Given the description of an element on the screen output the (x, y) to click on. 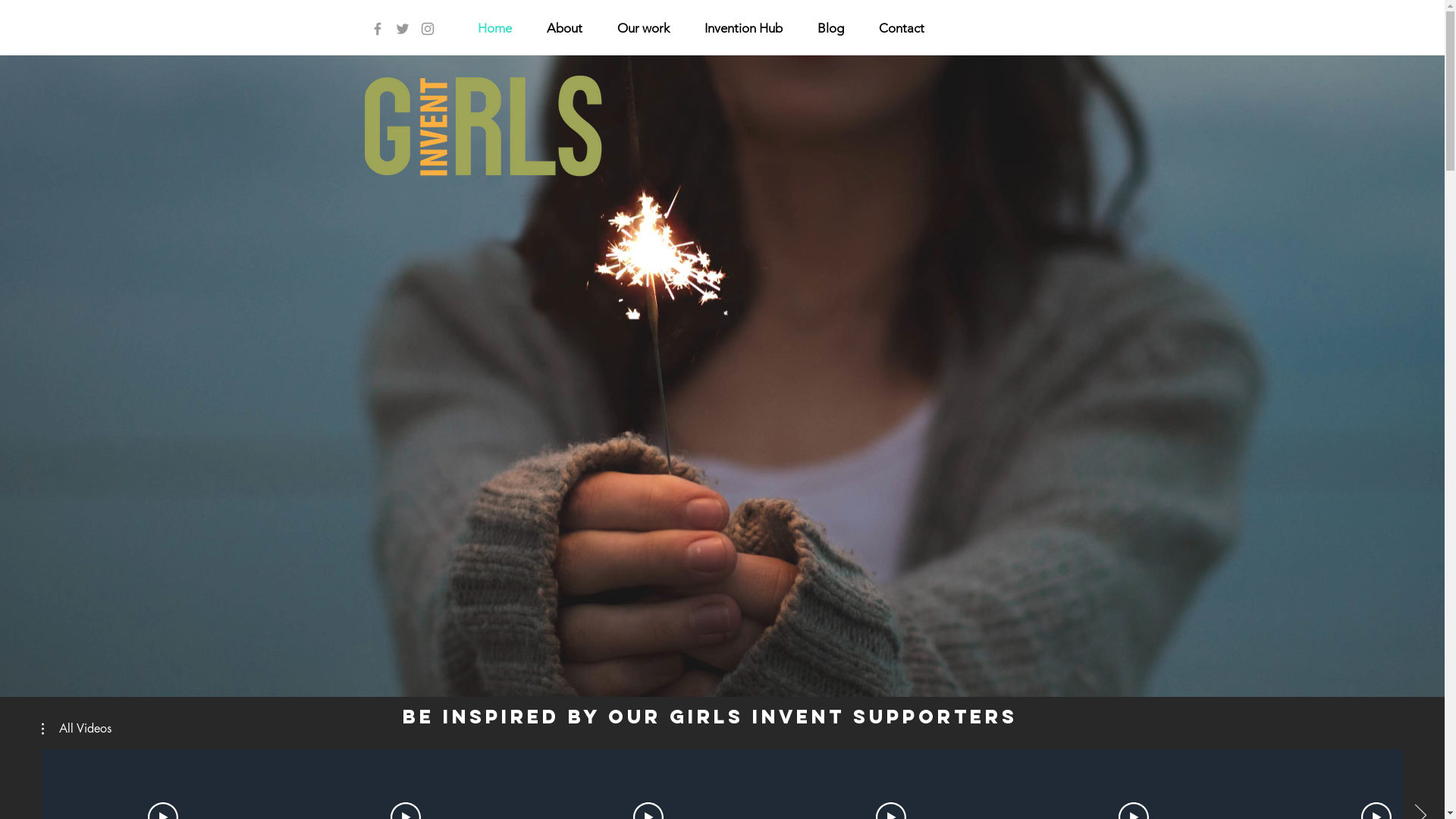
Our work Element type: text (642, 28)
Blog Element type: text (829, 28)
Home Element type: text (493, 28)
About Element type: text (564, 28)
Invention Hub Element type: text (743, 28)
Contact Element type: text (901, 28)
Embedded Content Element type: hover (721, 567)
